Given the description of an element on the screen output the (x, y) to click on. 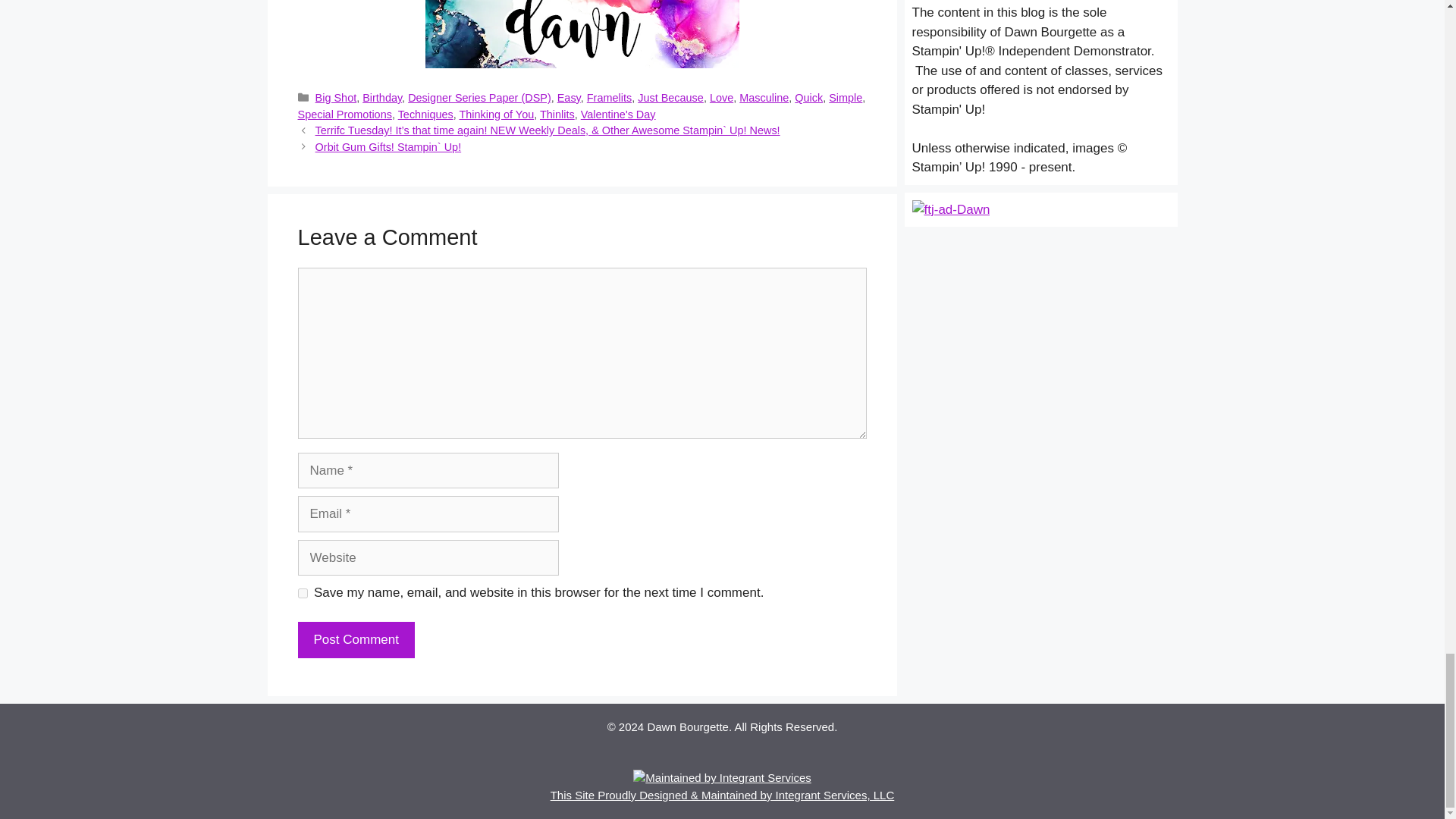
Post Comment (355, 639)
Easy (568, 97)
Big Shot (335, 97)
Framelits (608, 97)
yes (302, 593)
Just Because (670, 97)
Birthday (381, 97)
